Given the description of an element on the screen output the (x, y) to click on. 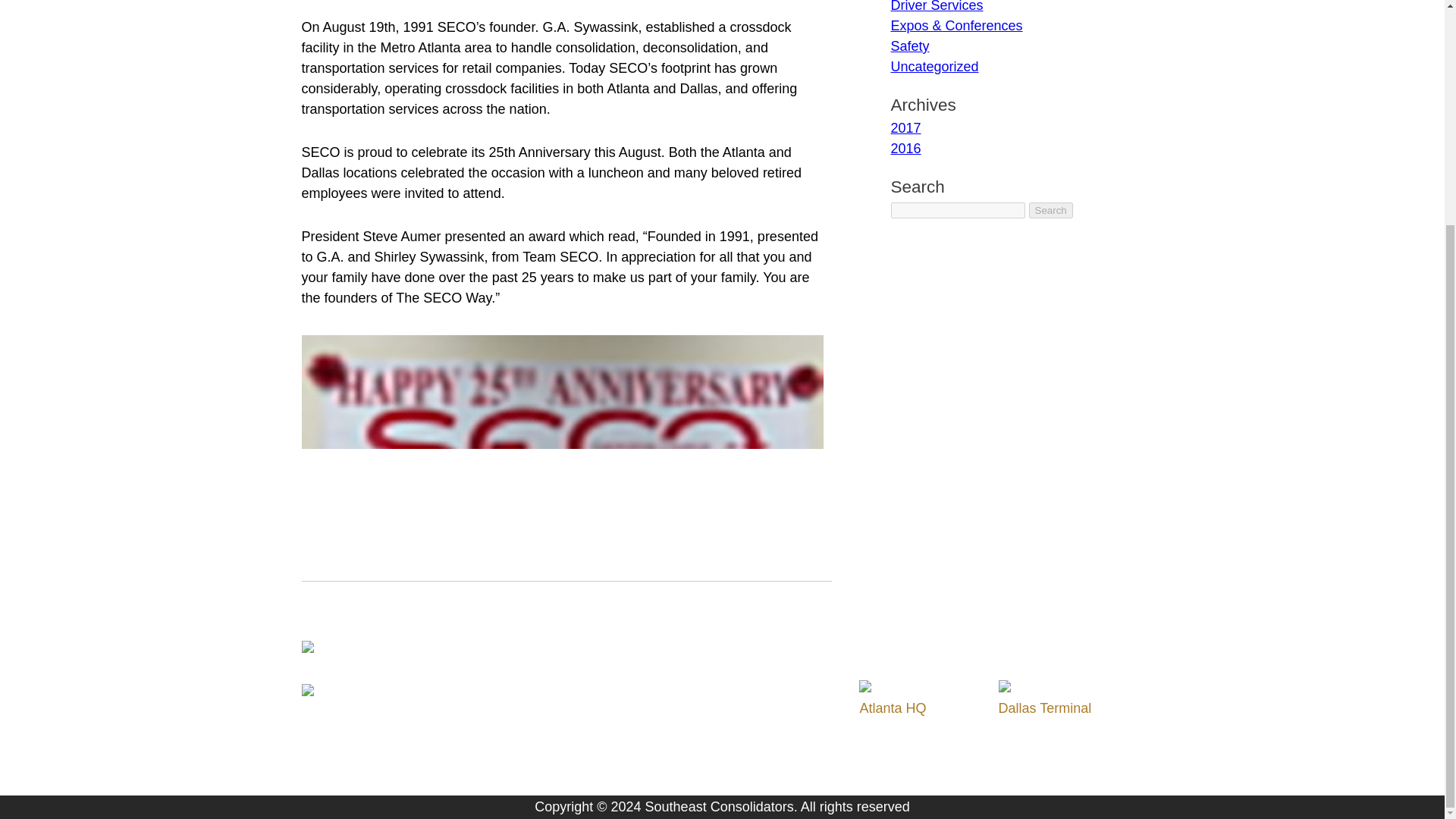
News (597, 769)
2017 (904, 127)
Solutions (608, 708)
Safety (908, 46)
Uncategorized (933, 66)
Atlanta HQ (892, 708)
Driver Services (935, 6)
Search (1051, 210)
Locations (610, 749)
2016 (904, 148)
